Given the description of an element on the screen output the (x, y) to click on. 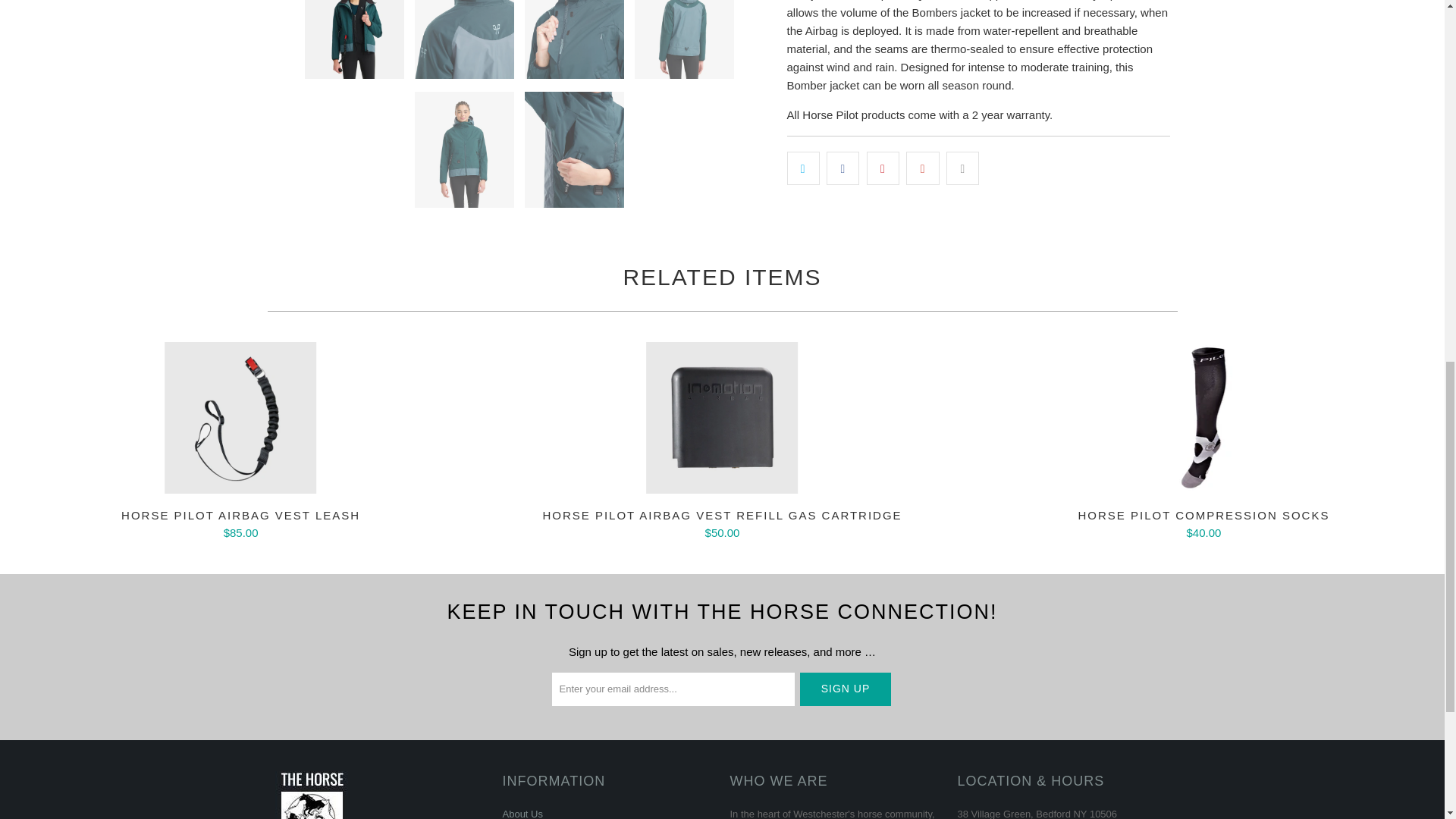
Share this on Twitter (803, 168)
Share this on Pinterest (882, 168)
Share this on Facebook (843, 168)
Sign Up (845, 688)
Email this to a friend (962, 168)
